Given the description of an element on the screen output the (x, y) to click on. 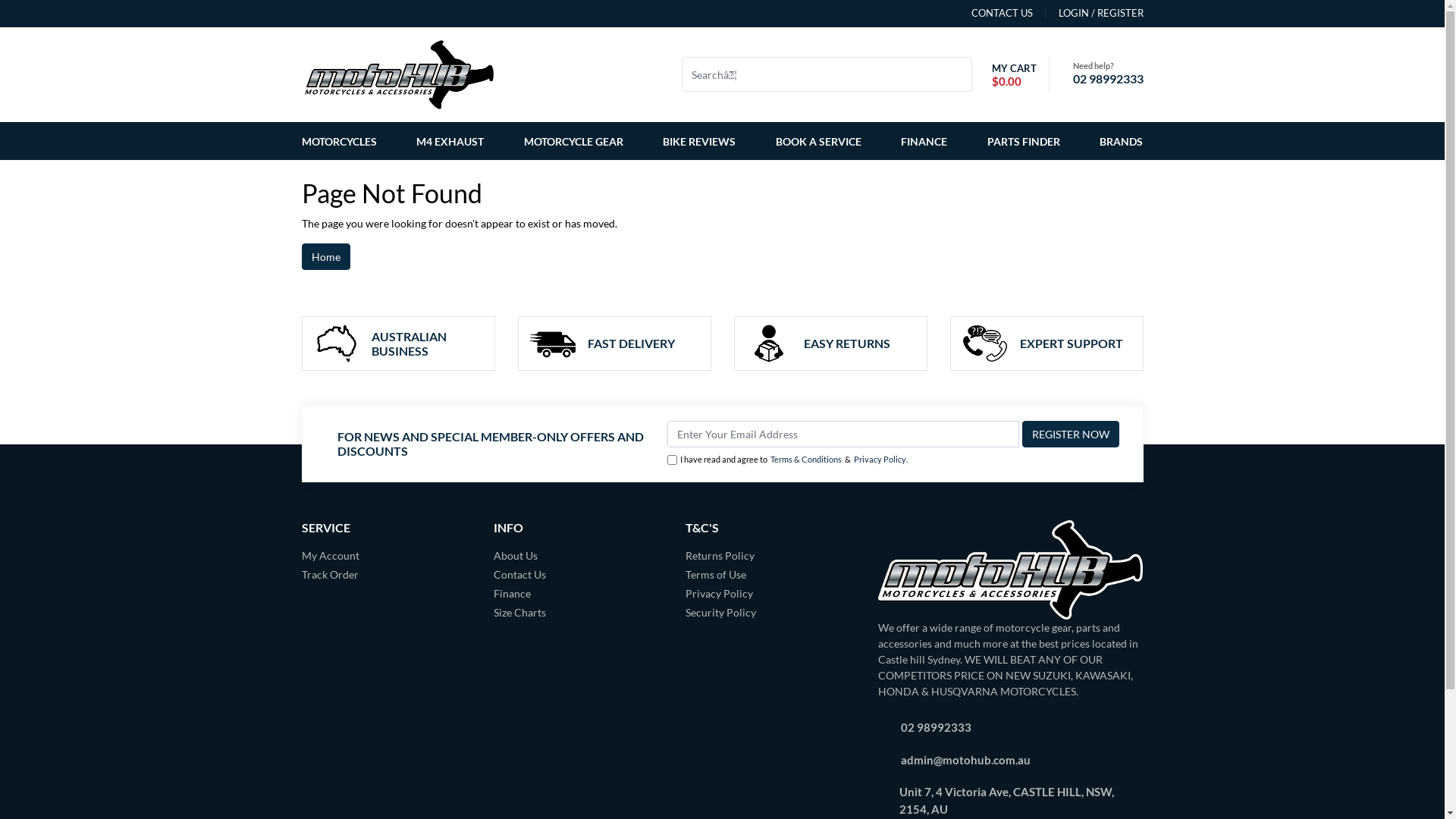
Home Element type: text (325, 256)
CONTACT US Element type: text (1001, 13)
Contact Us Element type: text (577, 573)
MOTORCYCLE GEAR Element type: text (573, 141)
FINANCE Element type: text (923, 141)
Security Policy Element type: text (769, 611)
Terms of Use Element type: text (769, 573)
Returns Policy Element type: text (769, 555)
Terms & Conditions Element type: text (805, 459)
Finance Element type: text (577, 592)
Track Order Element type: text (385, 573)
MY CART
$0.00 Element type: text (1009, 74)
Search Element type: text (961, 73)
BIKE REVIEWS Element type: text (698, 141)
Privacy Policy Element type: text (769, 592)
LOGIN / REGISTER Element type: text (1087, 13)
My Account Element type: text (385, 555)
MOTORCYCLES Element type: text (341, 141)
REGISTER NOW Element type: text (1070, 433)
02 98992333 Element type: text (1107, 78)
BRANDS Element type: text (1117, 141)
BOOK A SERVICE Element type: text (818, 141)
Size Charts Element type: text (577, 611)
About Us Element type: text (577, 555)
admin@motohub.com.au Element type: text (965, 759)
Privacy Policy Element type: text (879, 459)
M4 EXHAUST Element type: text (449, 141)
Motohub Pty Ltd Element type: hover (398, 72)
PARTS FINDER Element type: text (1023, 141)
02 98992333 Element type: text (935, 727)
